Given the description of an element on the screen output the (x, y) to click on. 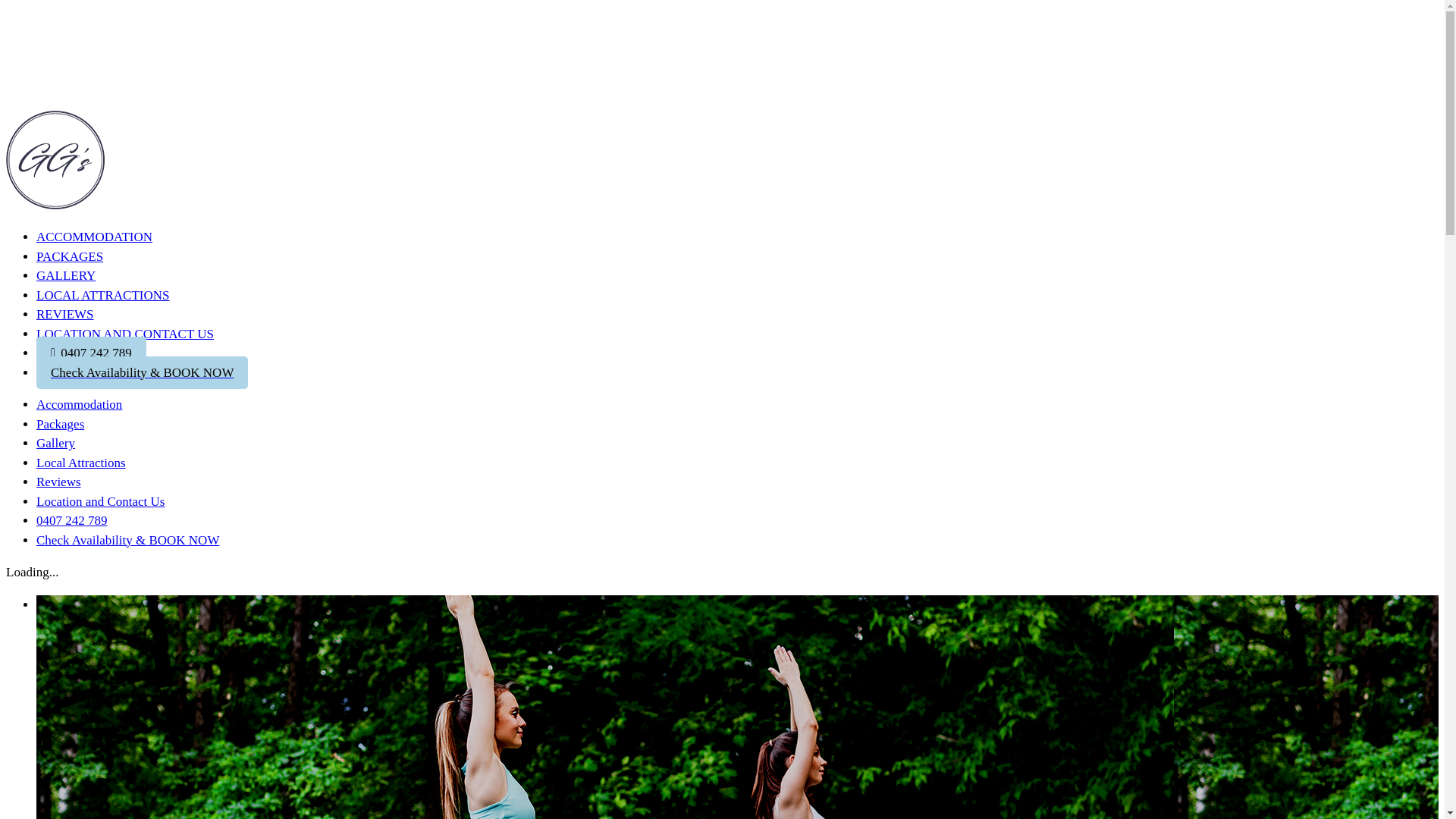
Local Attractions Element type: text (80, 462)
Gallery Element type: text (55, 443)
Reviews Element type: text (58, 481)
Accommodation Element type: text (79, 404)
0407 242 789 Element type: text (71, 520)
0407 242 789 Element type: text (91, 352)
Check Availability & BOOK NOW Element type: text (141, 372)
LOCAL ATTRACTIONS Element type: text (102, 295)
ACCOMMODATION Element type: text (94, 239)
Location and Contact Us Element type: text (100, 501)
GALLERY Element type: text (65, 275)
Skip to content Element type: text (5, 5)
Check Availability & BOOK NOW Element type: text (127, 539)
PACKAGES Element type: text (69, 255)
REVIEWS Element type: text (65, 314)
LOCATION AND CONTACT US Element type: text (124, 333)
Packages Element type: text (60, 424)
